Given the description of an element on the screen output the (x, y) to click on. 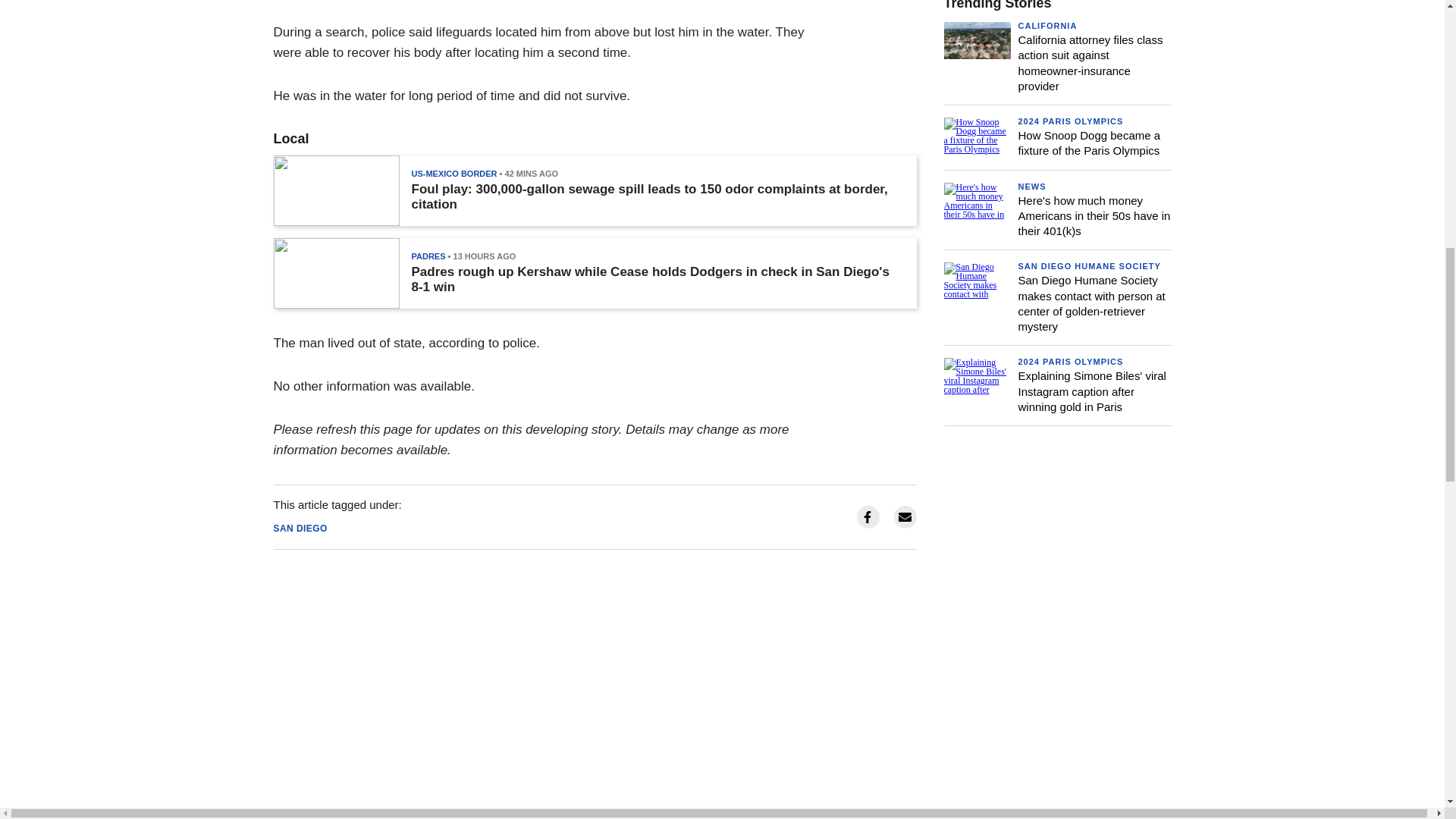
PADRES (427, 256)
US-MEXICO BORDER (453, 173)
CALIFORNIA (1047, 25)
SAN DIEGO (299, 528)
